Given the description of an element on the screen output the (x, y) to click on. 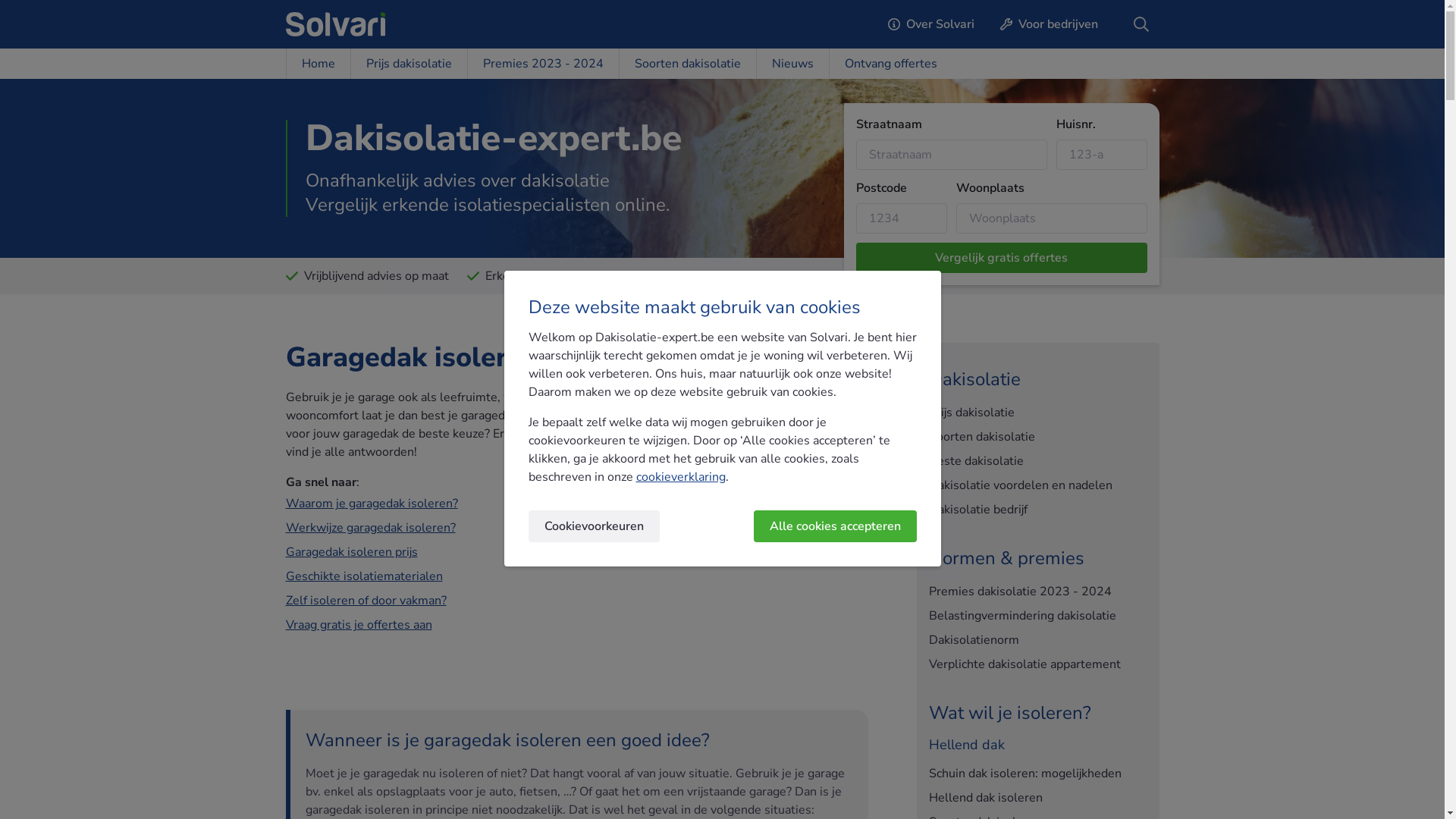
Cookievoorkeuren Element type: text (592, 526)
Verplichte dakisolatie appartement Element type: text (1037, 664)
Soorten dakisolatie Element type: text (1037, 436)
Soorten dakisolatie Element type: text (687, 63)
Nieuws Element type: text (791, 63)
Geschikte isolatiematerialen Element type: text (363, 576)
Premies dakisolatie 2023 - 2024 Element type: text (1037, 591)
Dakisolatie voordelen en nadelen Element type: text (1037, 485)
Waarom je garagedak isoleren? Element type: text (371, 503)
Vergelijk gratis offertes Element type: text (1000, 257)
Prijs dakisolatie Element type: text (408, 63)
Belastingvermindering dakisolatie Element type: text (1037, 615)
Voor bedrijven Element type: text (1048, 24)
Alle cookies accepteren Element type: text (834, 526)
Schuin dak isoleren: mogelijkheden Element type: text (1037, 773)
Garagedak isoleren prijs Element type: text (351, 551)
Vraag gratis je offertes aan Element type: text (358, 624)
Prijs dakisolatie Element type: text (1037, 412)
Home Element type: text (317, 63)
Over Solvari Element type: text (931, 24)
Beste dakisolatie Element type: text (1037, 460)
Dakisolatie bedrijf Element type: text (1037, 509)
Werkwijze garagedak isoleren? Element type: text (370, 527)
Dakisolatienorm Element type: text (1037, 639)
Zelf isoleren of door vakman? Element type: text (365, 600)
cookieverklaring Element type: text (679, 476)
Hellend dak isoleren Element type: text (1037, 797)
Ontvang offertes Element type: text (889, 63)
Premies 2023 - 2024 Element type: text (542, 63)
